Given the description of an element on the screen output the (x, y) to click on. 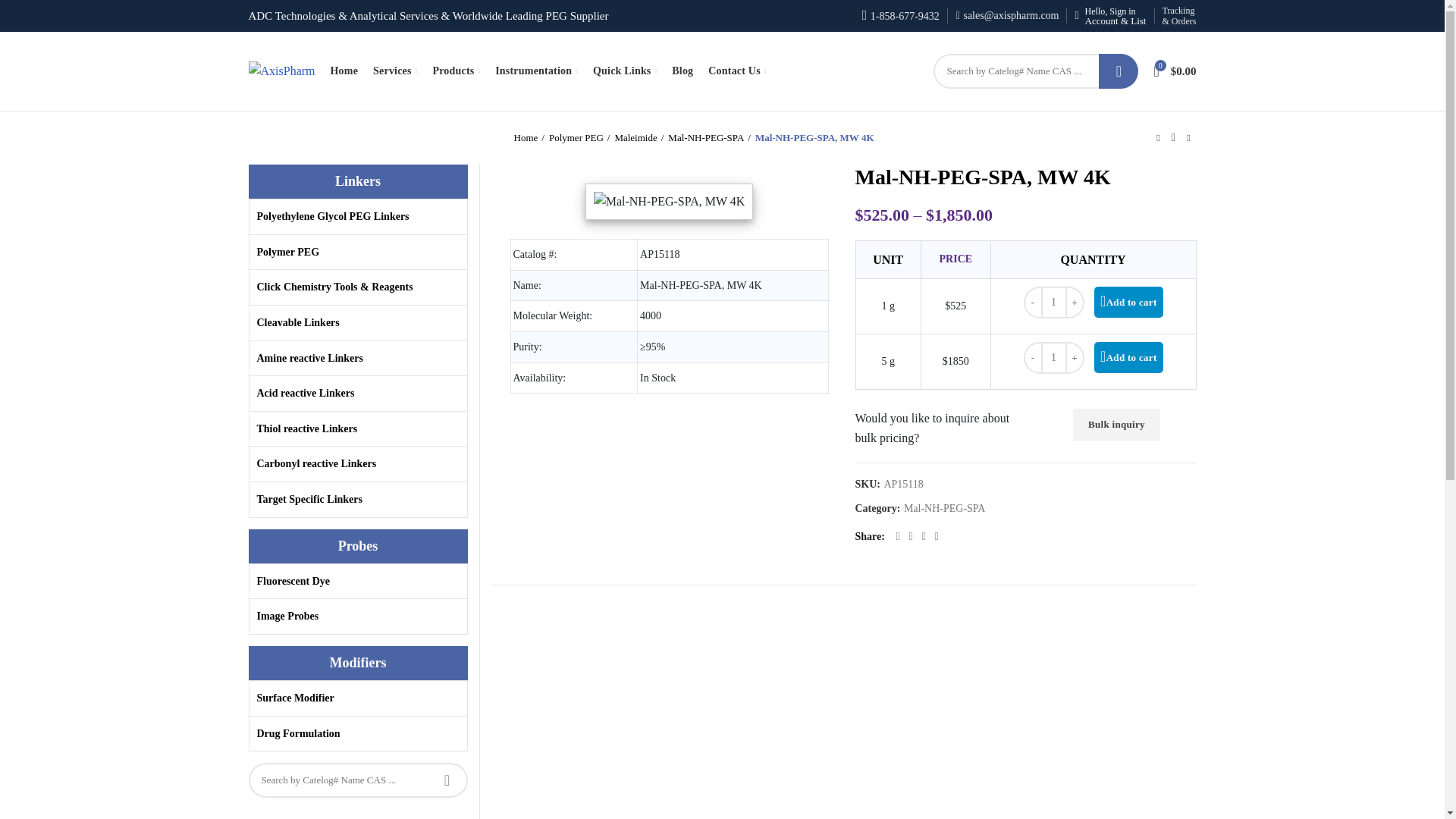
Shopping cart (1174, 71)
Services (395, 71)
- (1032, 357)
My account (1110, 15)
Home (344, 71)
1 (1053, 302)
1 (1053, 357)
1-858-677-9432 (900, 16)
- (1032, 302)
Hello, Sign in (1110, 15)
Qty (1053, 357)
Qty (1053, 302)
